Given the description of an element on the screen output the (x, y) to click on. 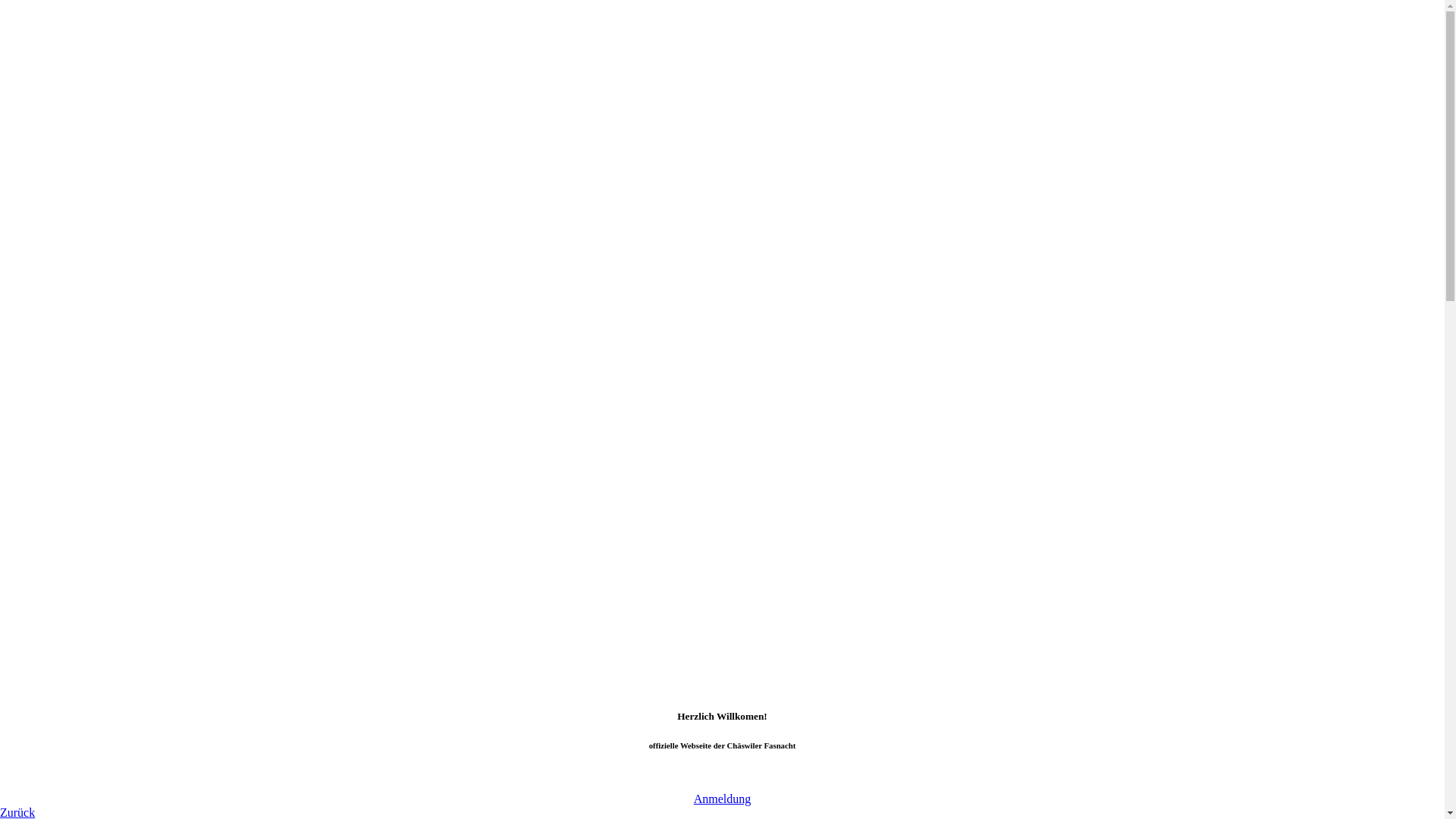
Teilnahmebdingungen Umzug Element type: text (133, 477)
Anmeldung Umzug Element type: text (108, 464)
Anmeldung Element type: text (722, 798)
Login Element type: text (22, 395)
Fasnacht Element type: text (51, 449)
Willkommen Element type: text (62, 435)
Mitglieder Element type: text (86, 505)
Kontakt Element type: text (80, 519)
Galerie Element type: text (47, 561)
Komitee Element type: text (51, 491)
Partner Element type: text (47, 547)
Sponsoren Element type: text (55, 533)
